Given the description of an element on the screen output the (x, y) to click on. 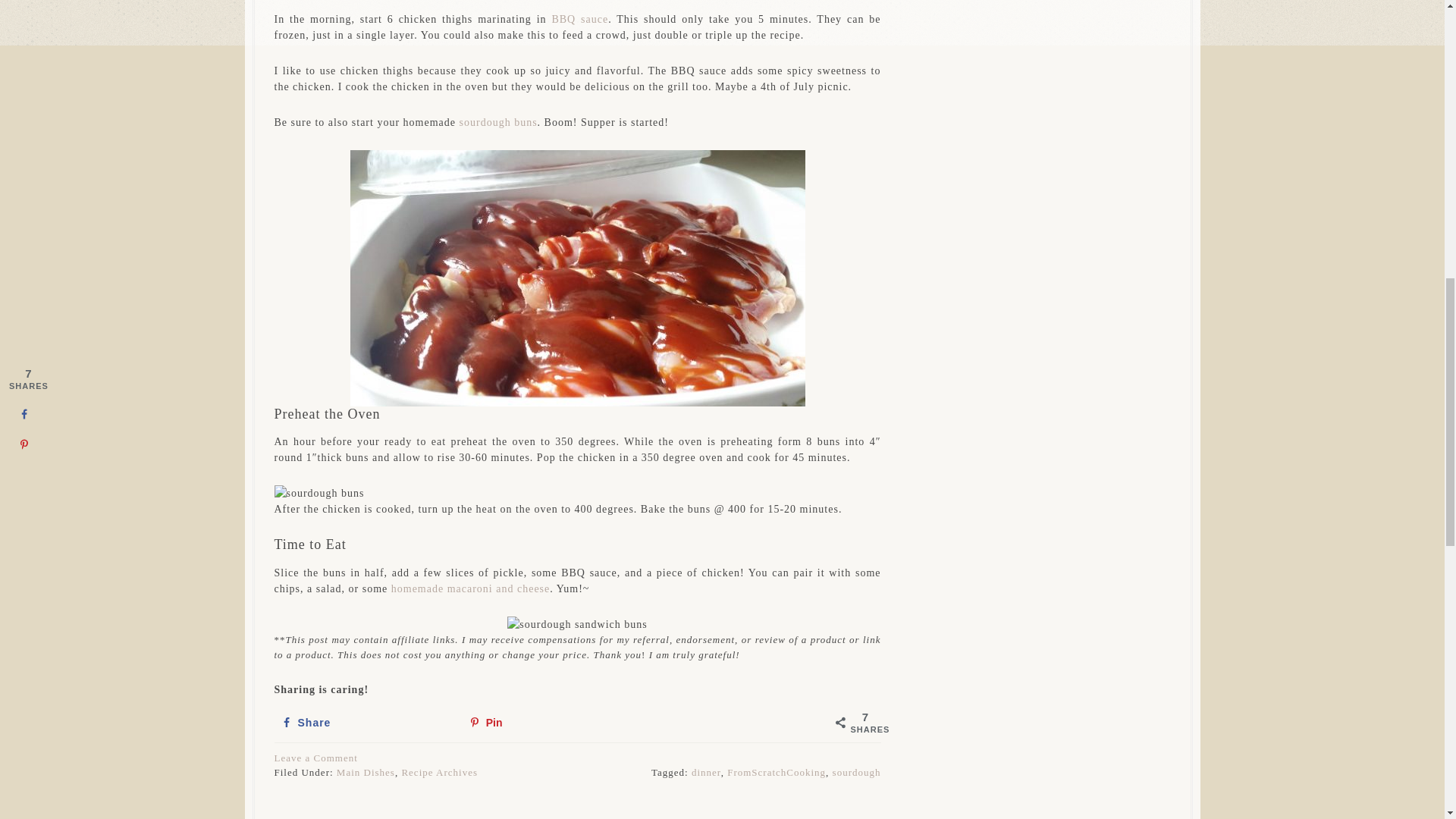
sourdough (856, 772)
Main Dishes (365, 772)
BBQ sauce (579, 19)
Share (363, 722)
Leave a Comment (316, 757)
Save to Pinterest (551, 722)
Share on Facebook (363, 722)
dinner (705, 772)
Pin (551, 722)
homemade macaroni and cheese (470, 588)
Recipe Archives (439, 772)
FromScratchCooking (775, 772)
ourdough buns (500, 122)
